Given the description of an element on the screen output the (x, y) to click on. 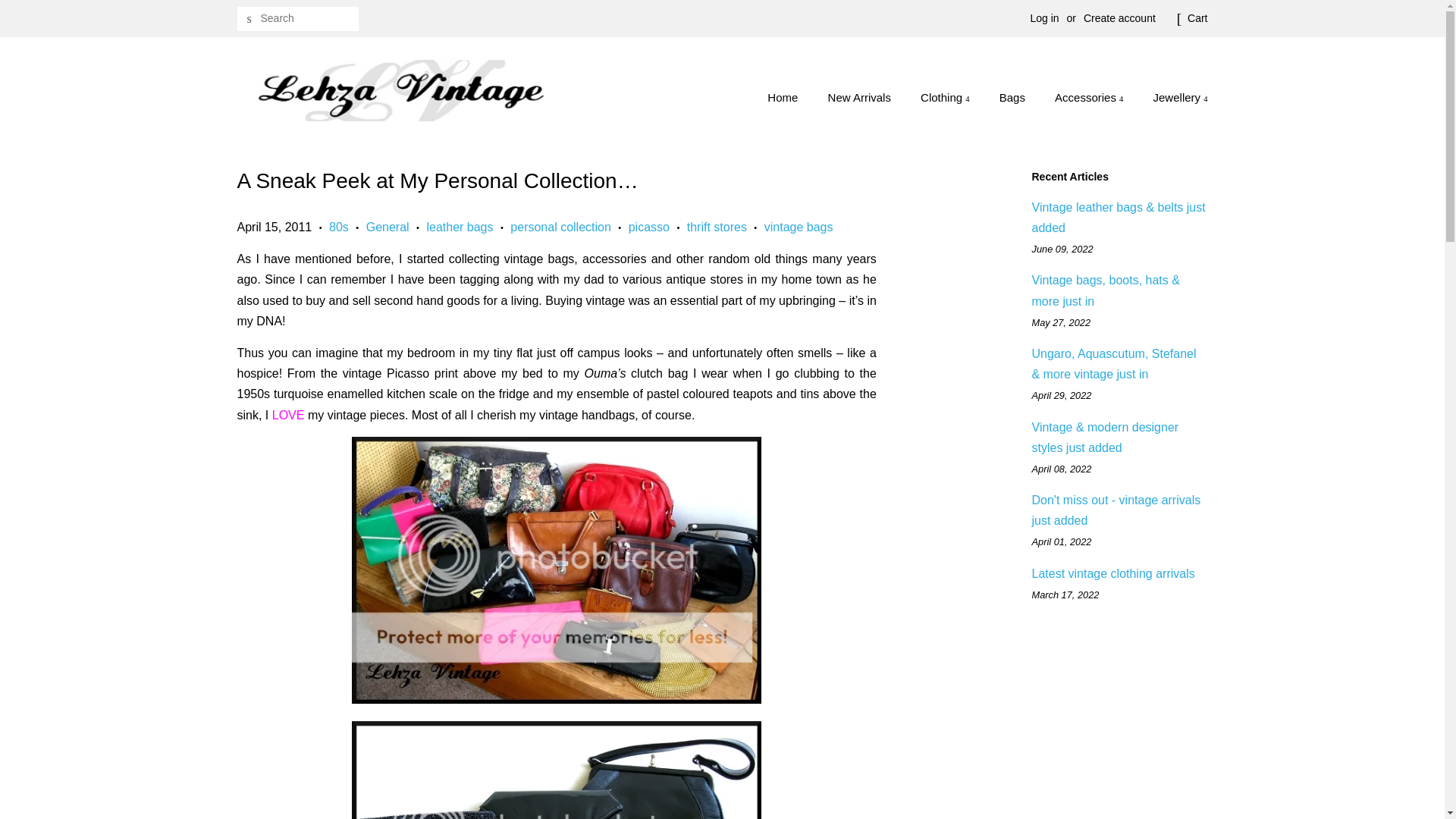
Log in (1043, 18)
Cart (1197, 18)
vintage bags (556, 770)
Create account (1119, 18)
vintage bags (556, 569)
Search (247, 18)
